Given the description of an element on the screen output the (x, y) to click on. 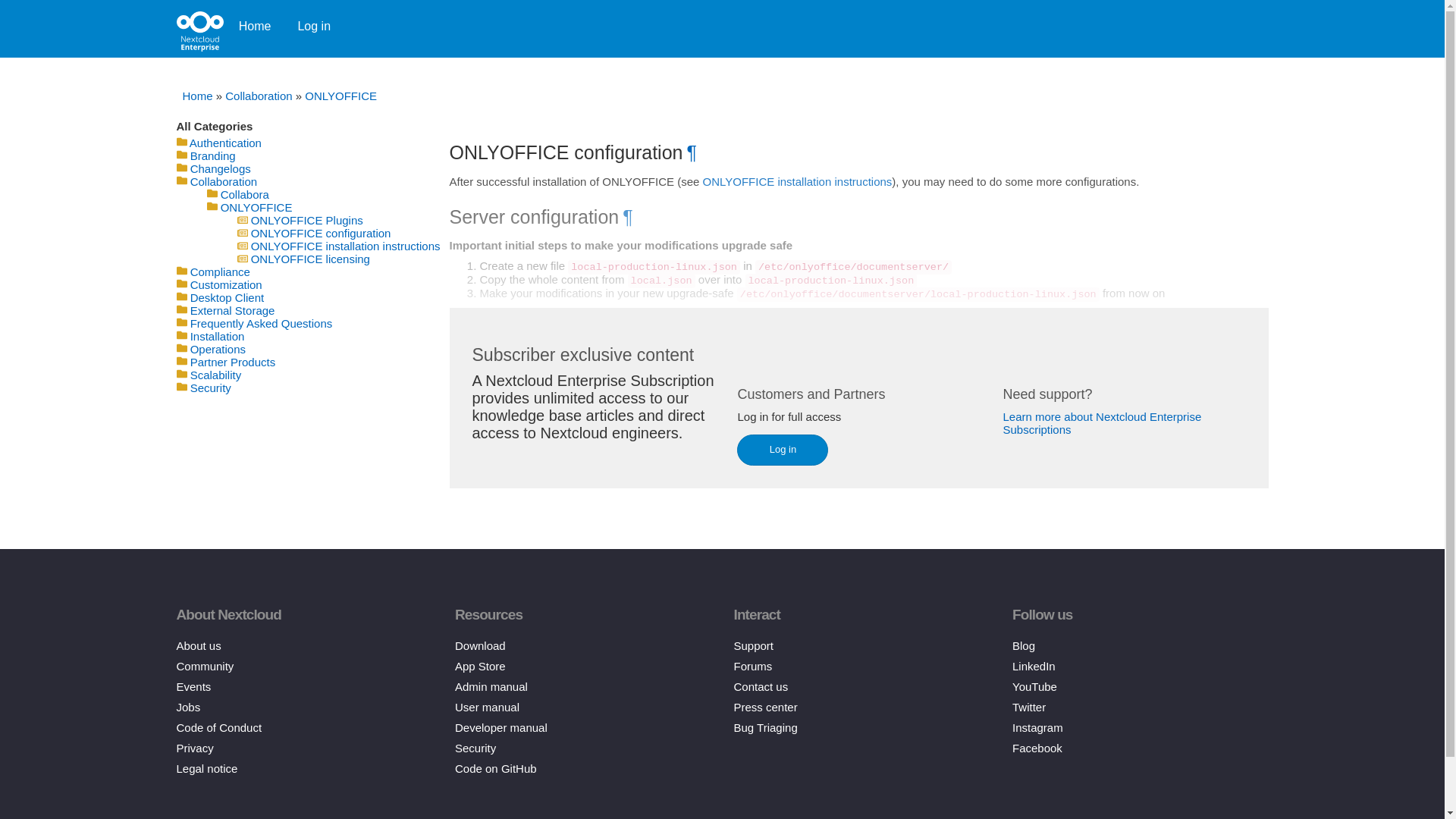
Authentication (225, 142)
Collaboration (258, 95)
Log in (312, 24)
Branding (212, 155)
Changelogs (220, 168)
Log in now (312, 24)
Home (253, 24)
ONLYOFFICE (340, 95)
Home (197, 95)
Home (253, 24)
portal.nextcloud.com (199, 26)
